Given the description of an element on the screen output the (x, y) to click on. 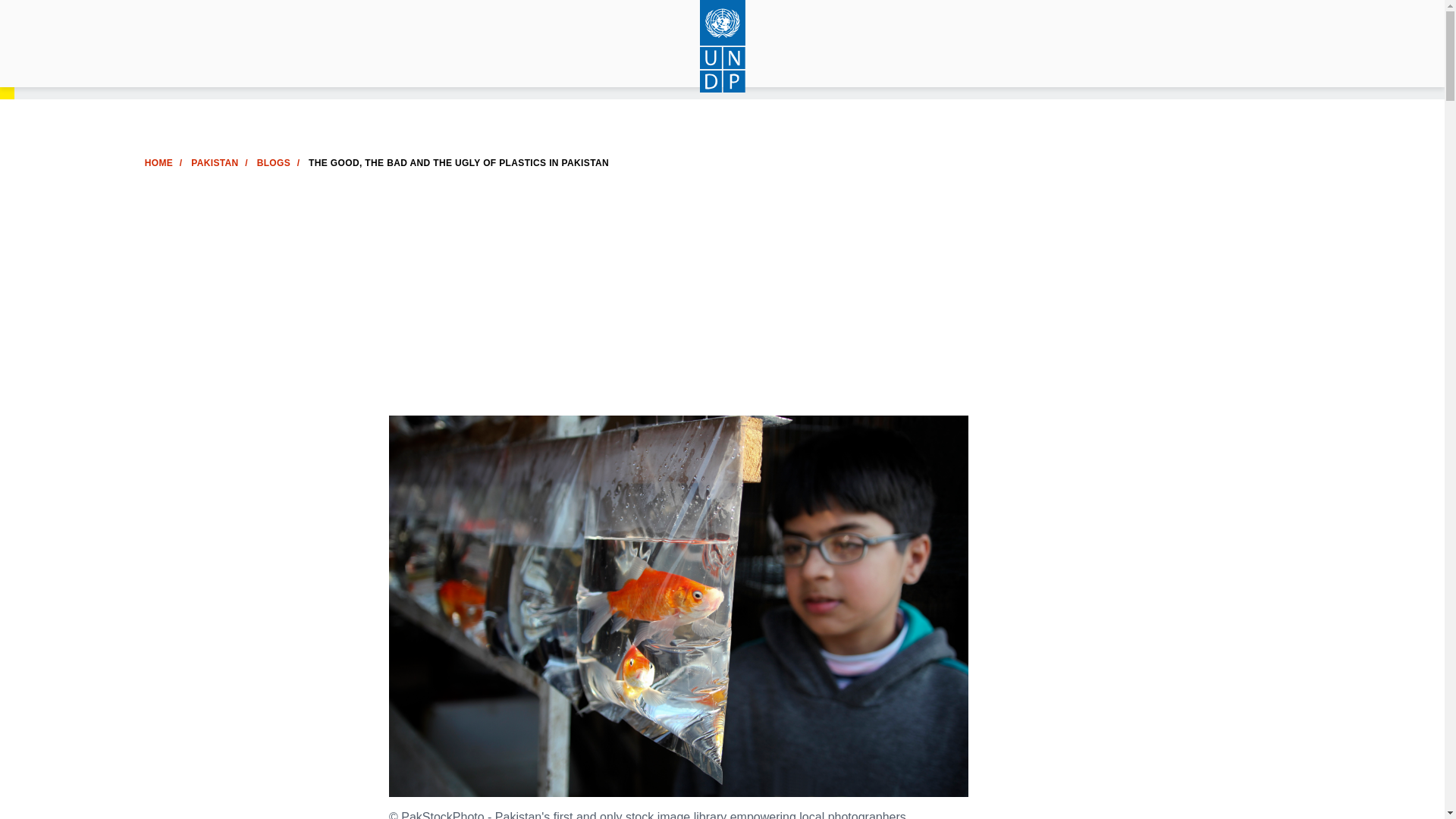
BLOGS (273, 163)
HOME (158, 163)
PAKISTAN (214, 163)
